Given the description of an element on the screen output the (x, y) to click on. 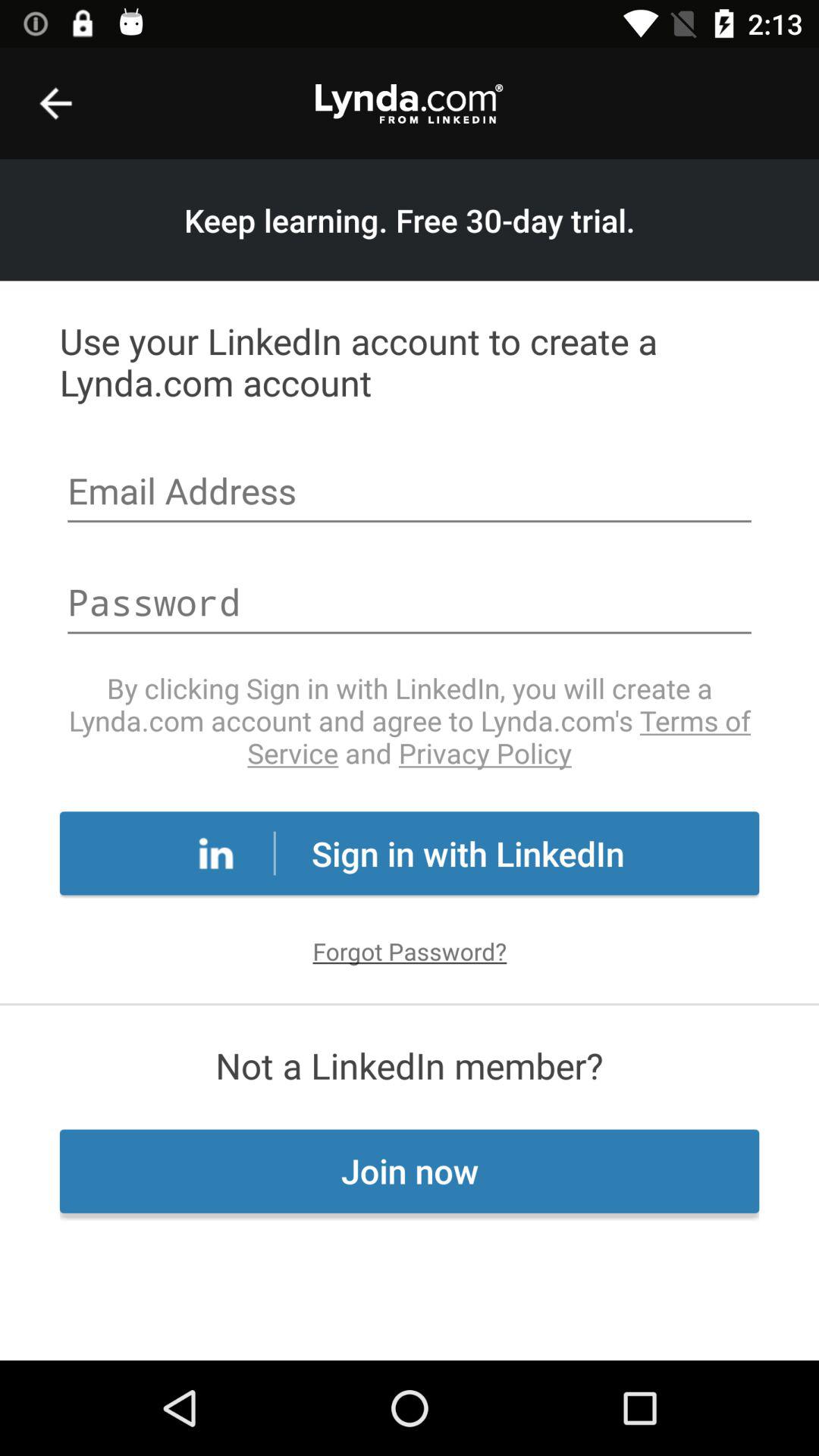
press by clicking sign (409, 720)
